Given the description of an element on the screen output the (x, y) to click on. 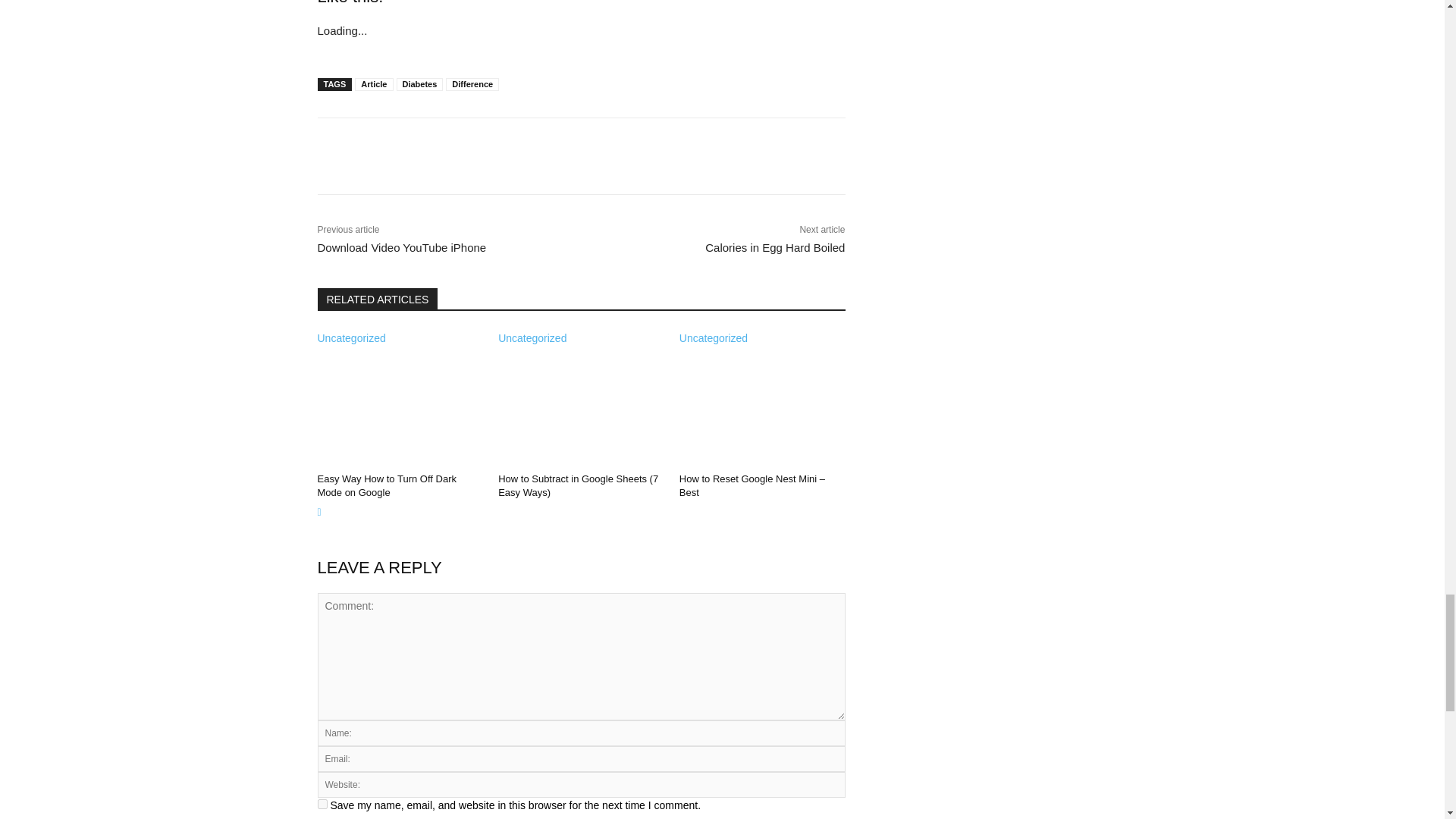
yes (321, 804)
